Given the description of an element on the screen output the (x, y) to click on. 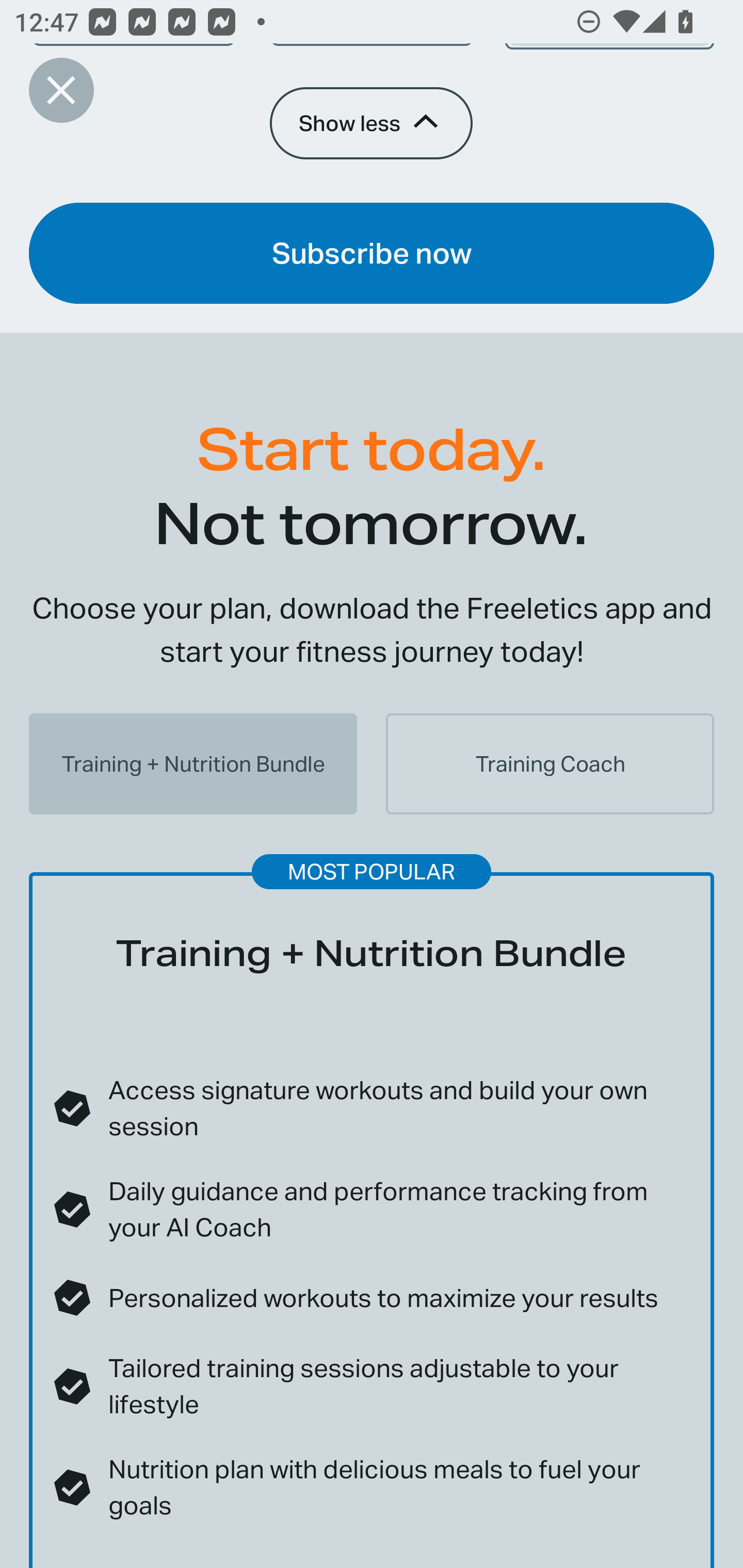
Close (60, 90)
Show less (370, 123)
Subscribe now (371, 253)
Training + Nutrition Bundle (192, 763)
Training Coach (549, 763)
